Given the description of an element on the screen output the (x, y) to click on. 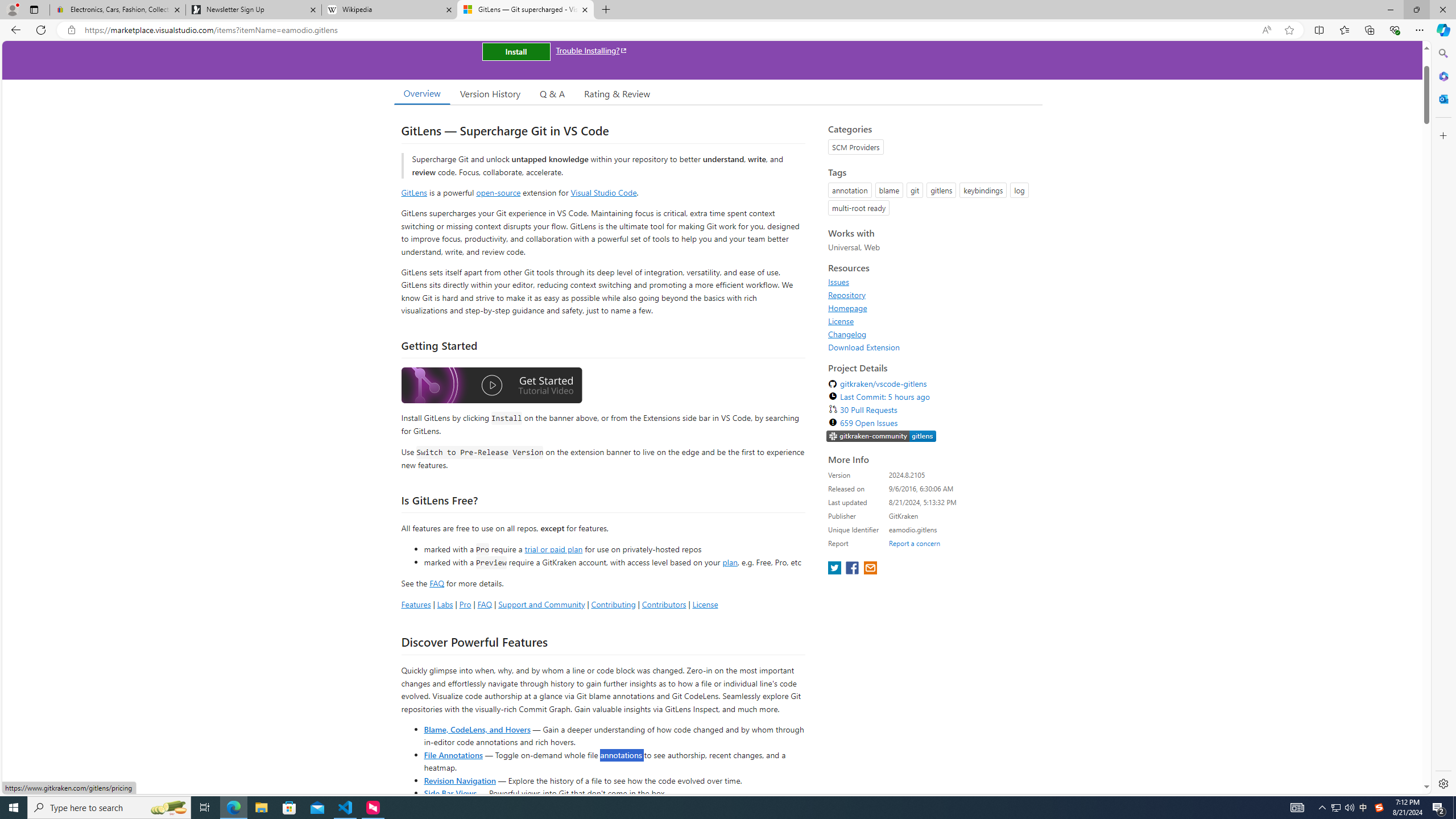
share extension on facebook (853, 568)
Issues (931, 281)
License (931, 320)
Features (415, 603)
Watch the GitLens Getting Started video (491, 385)
GitLens (414, 192)
Labs (444, 603)
